Given the description of an element on the screen output the (x, y) to click on. 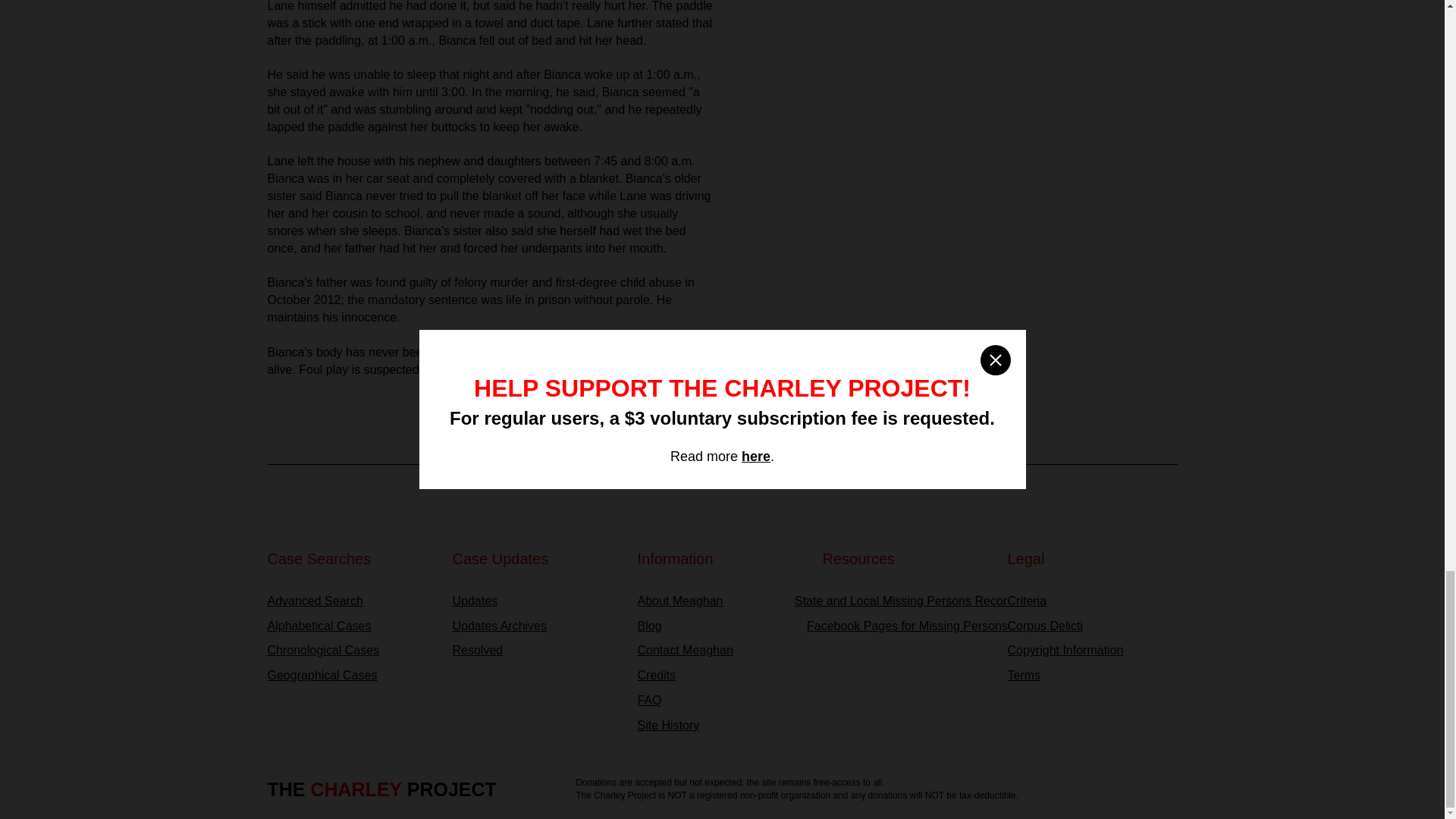
Chronological Cases (351, 651)
Alphabetical Cases (351, 626)
Updates (536, 601)
Advanced Search (351, 601)
Updates Archives (536, 626)
Geographical Cases (351, 675)
